Given the description of an element on the screen output the (x, y) to click on. 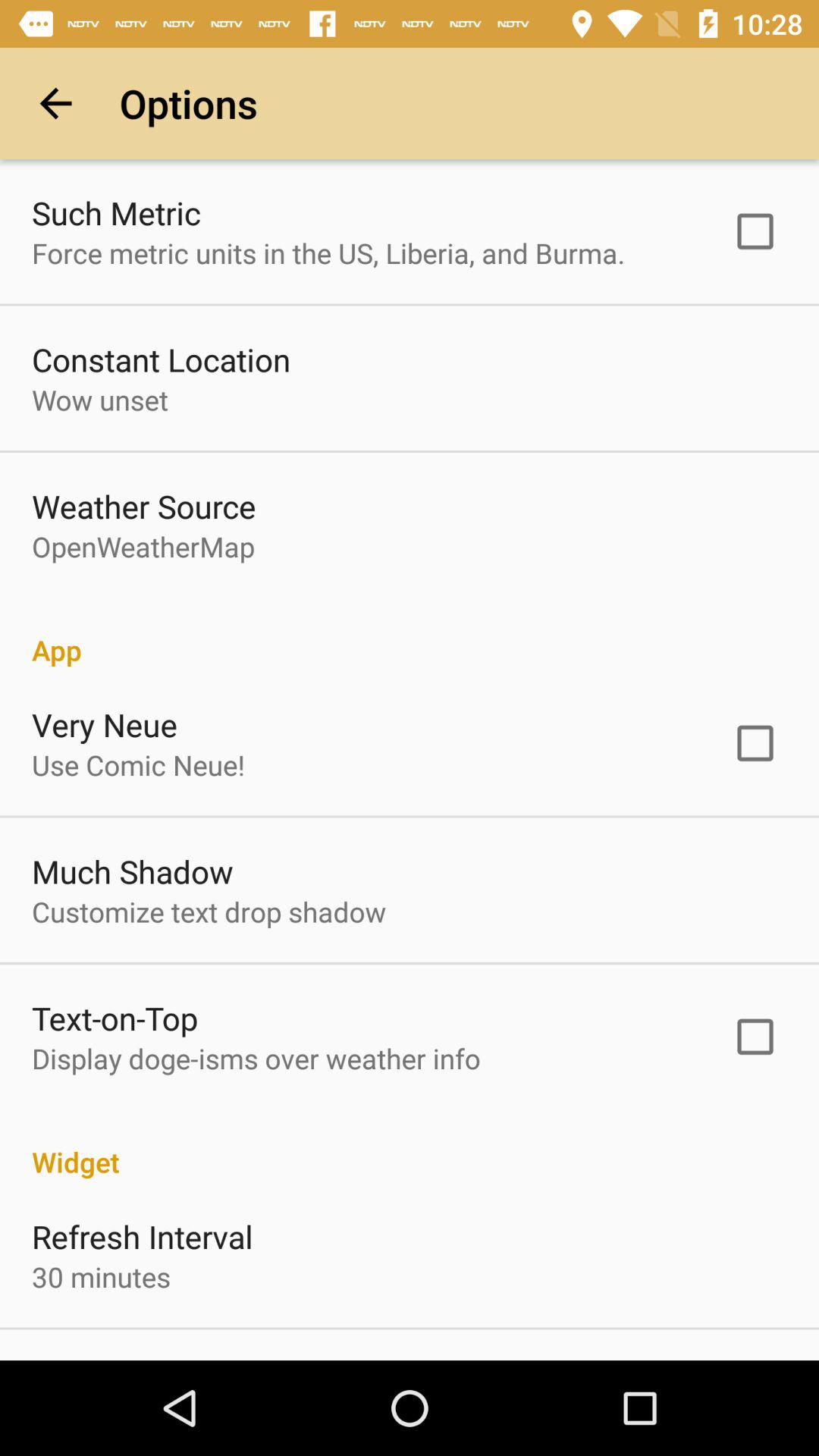
tap the refresh interval icon (142, 1236)
